Given the description of an element on the screen output the (x, y) to click on. 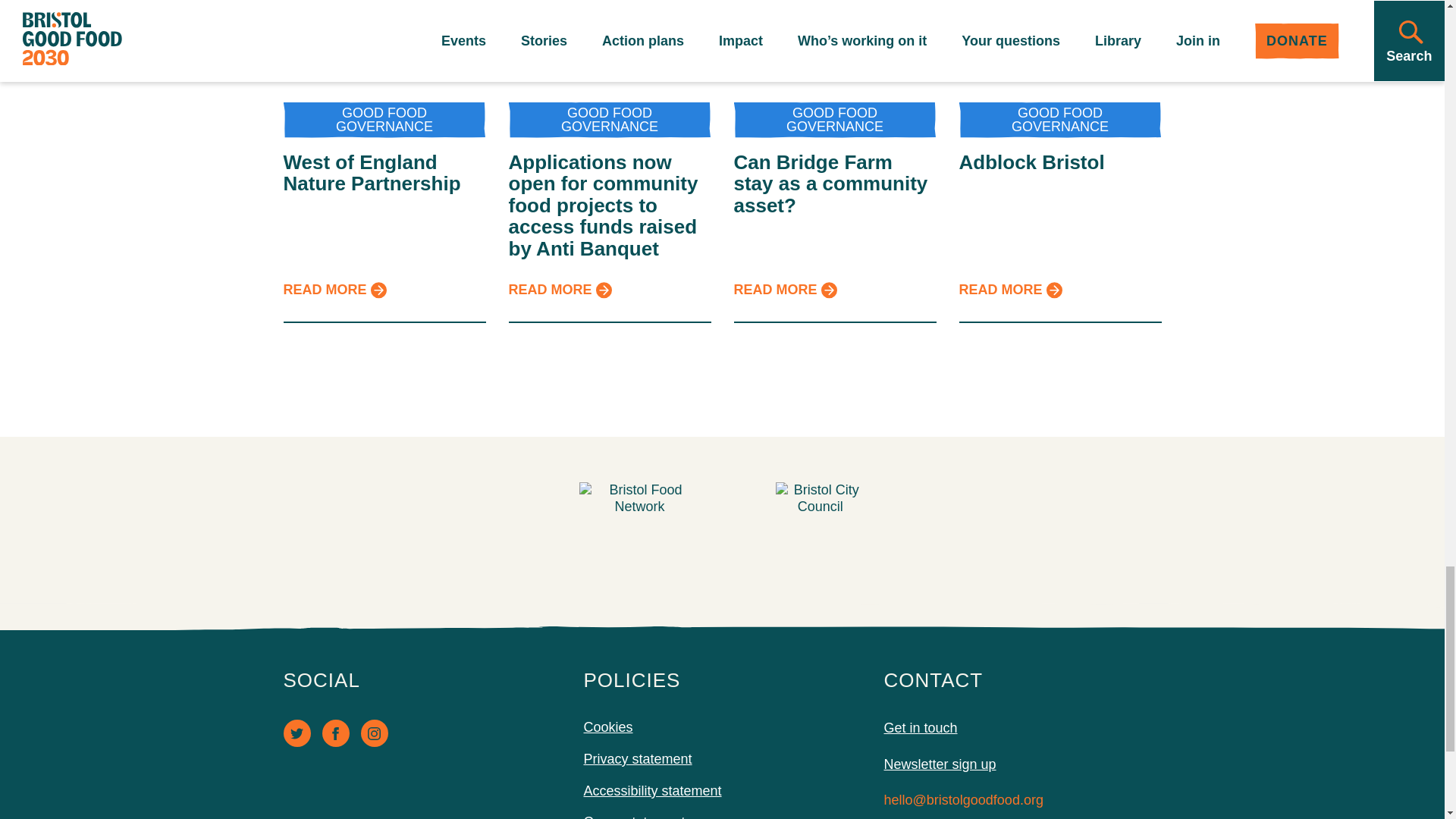
Privacy statement (638, 758)
West of England Nature Partnership (372, 171)
Instagram - Opens in new window. (374, 732)
Cookies (608, 726)
Twitter - Opens in new window. (297, 732)
Accessibility statement (652, 790)
Adblock Bristol (1030, 160)
